Given the description of an element on the screen output the (x, y) to click on. 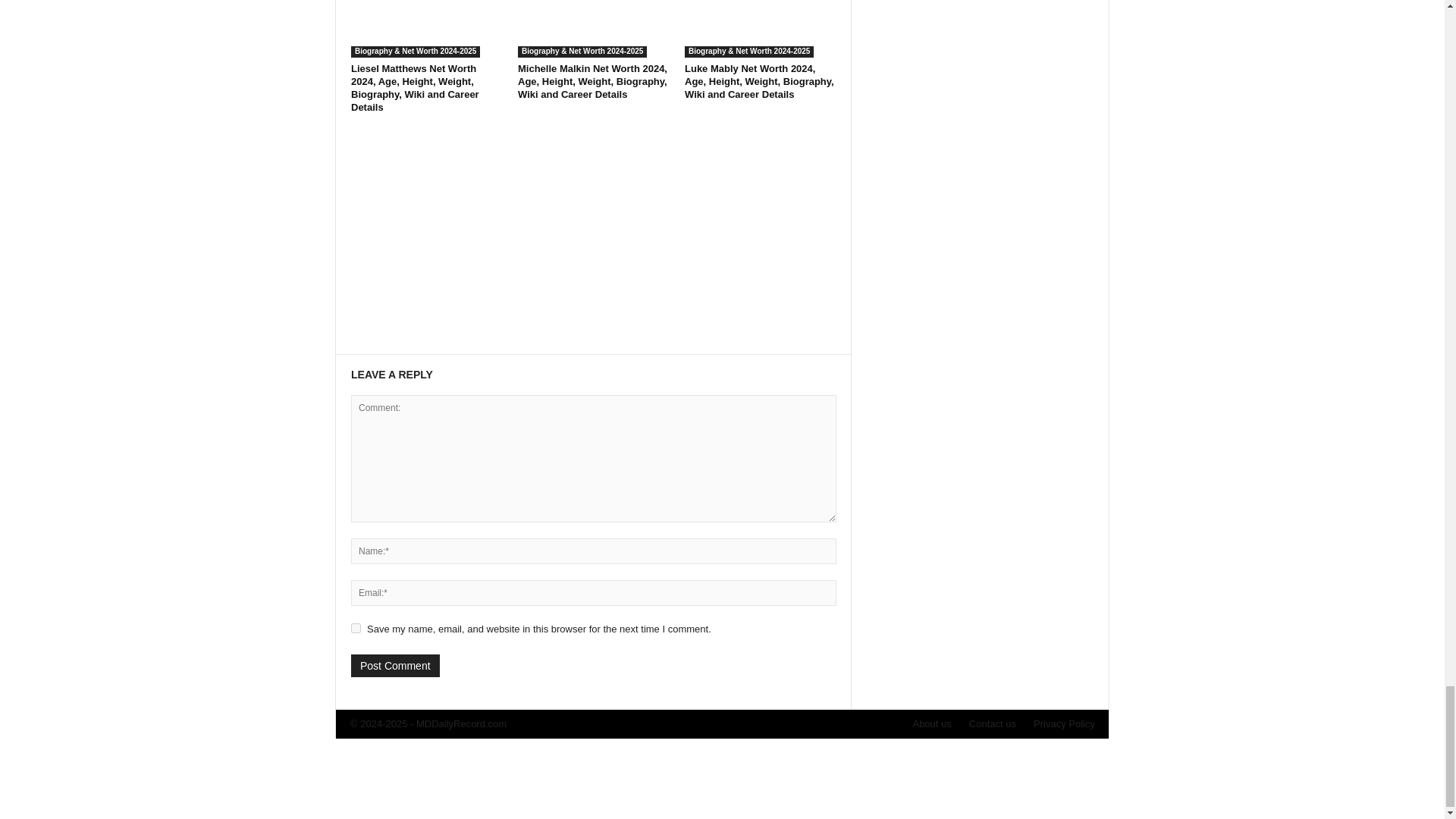
yes (355, 628)
Post Comment (394, 665)
